Given the description of an element on the screen output the (x, y) to click on. 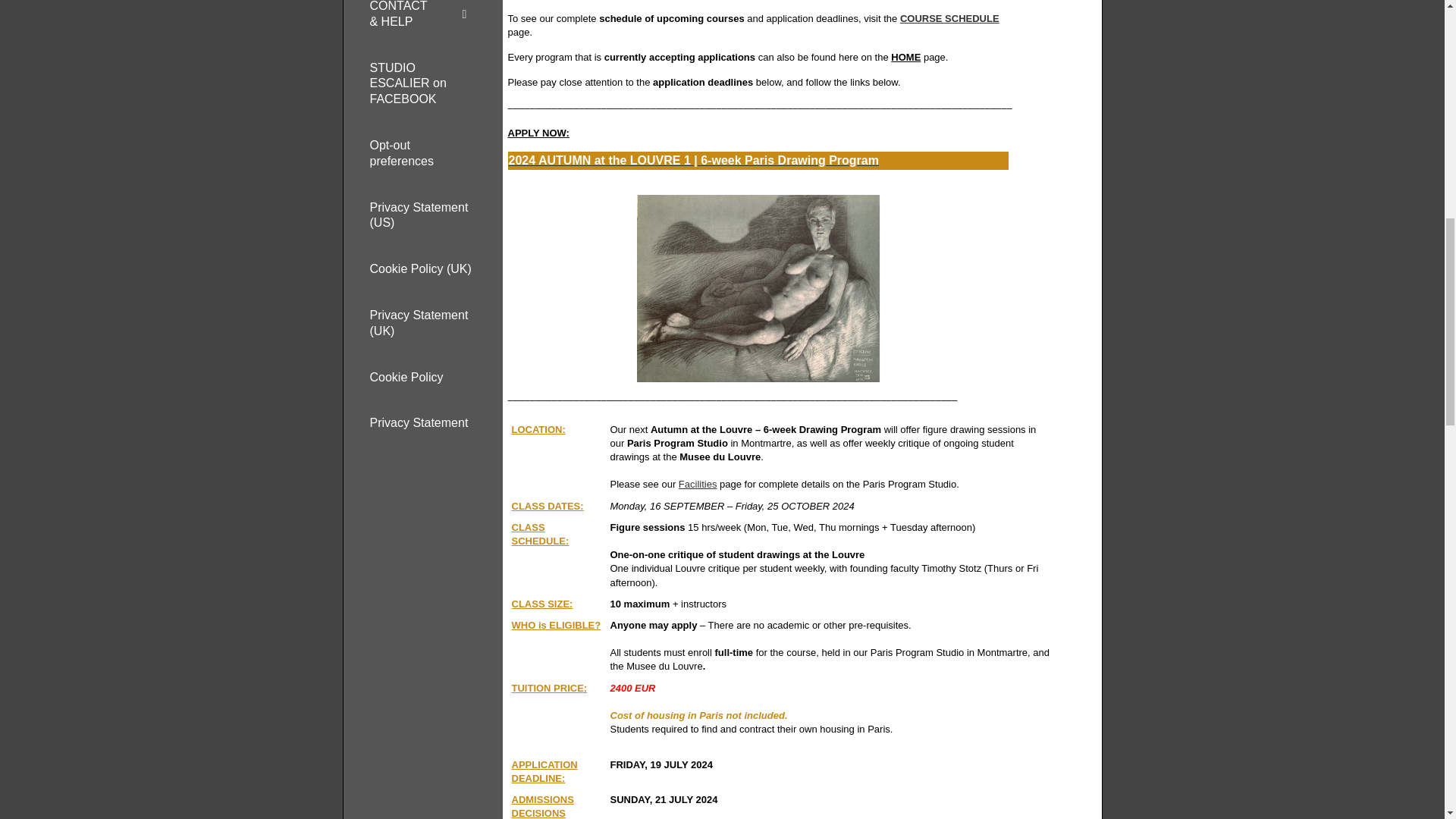
Course Schedule (948, 18)
Facilities (697, 483)
COURSE SCHEDULE (948, 18)
Facilities (697, 483)
